Given the description of an element on the screen output the (x, y) to click on. 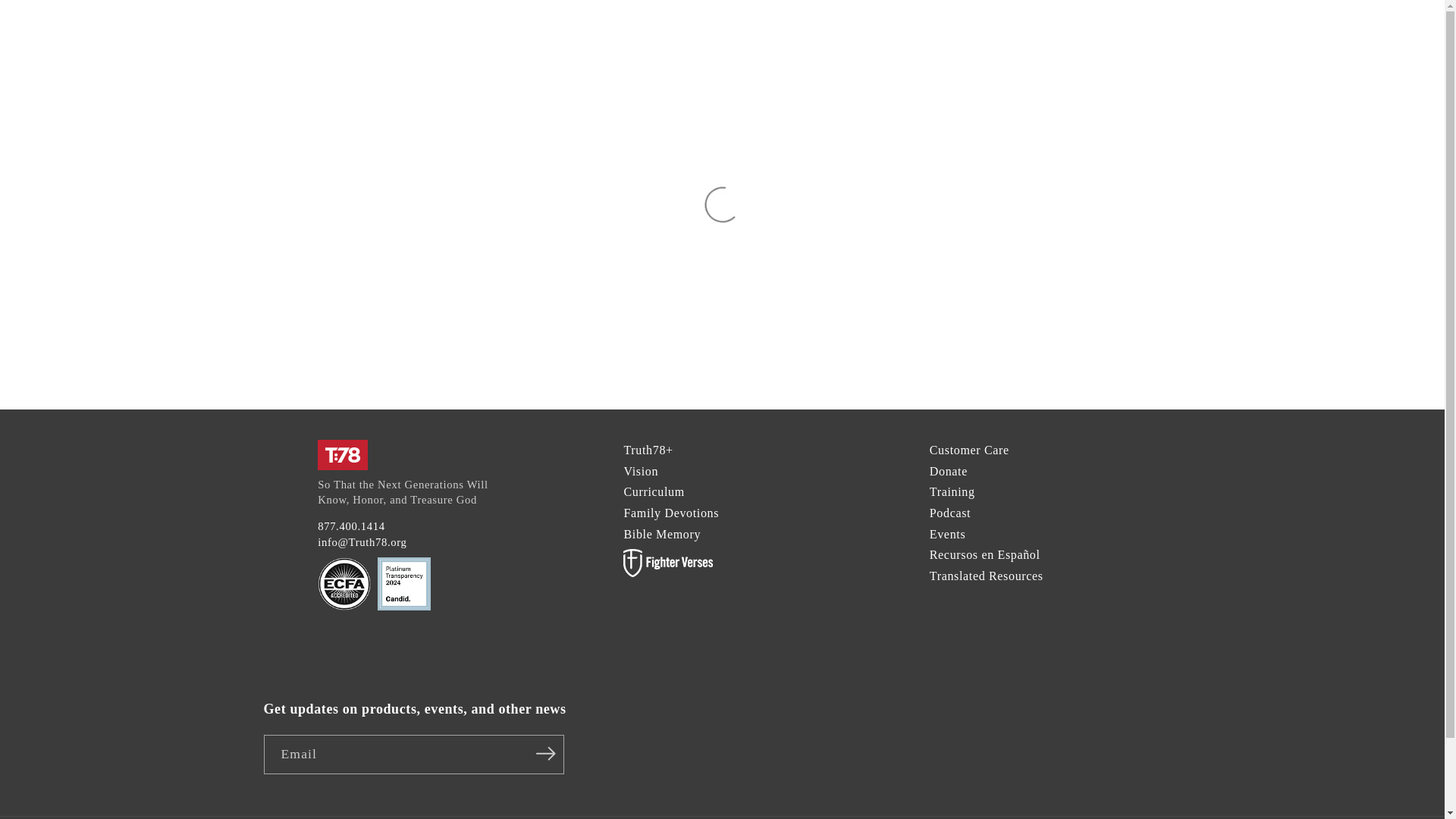
Training (952, 491)
Family Devotions (671, 512)
Donate (949, 471)
Bible Memory (661, 533)
Translated Resources (986, 575)
Events (948, 533)
Podcast (950, 512)
Curriculum (653, 491)
Vision (640, 471)
Customer Care (969, 449)
877.400.1414 (351, 526)
